Given the description of an element on the screen output the (x, y) to click on. 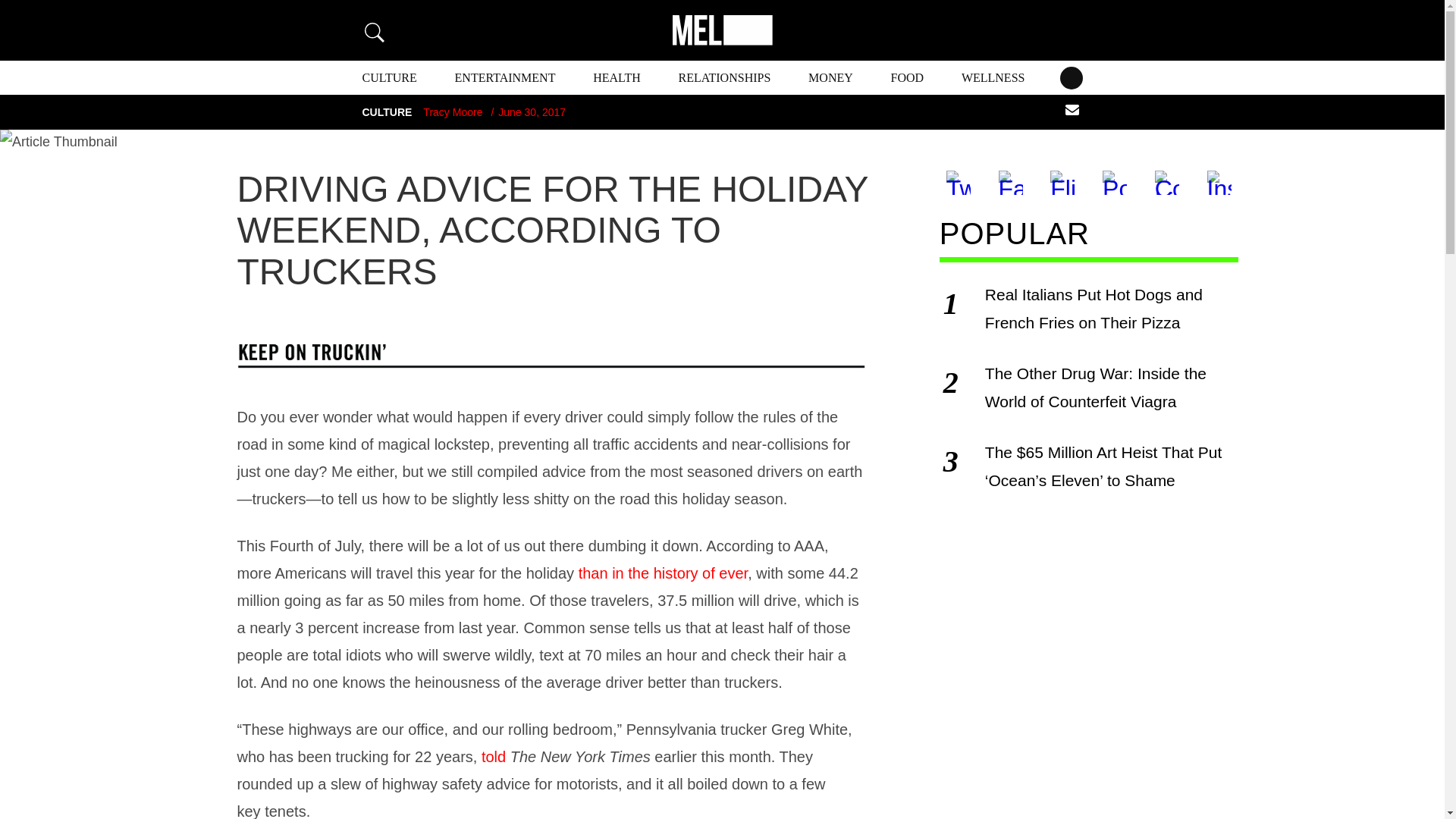
FOOD (907, 77)
MONEY (830, 77)
HEALTH (616, 77)
Copy Link (1166, 182)
Pocket (1114, 182)
Facebook (1010, 182)
Instagram (1219, 182)
Twitter (958, 182)
CULTURE (389, 77)
RELATIONSHIPS (724, 77)
WELLNESS (992, 77)
ENTERTAINMENT (505, 77)
Flipboard (1061, 182)
MEL Magazine (721, 30)
Posts by Tracy Moore (452, 111)
